Given the description of an element on the screen output the (x, y) to click on. 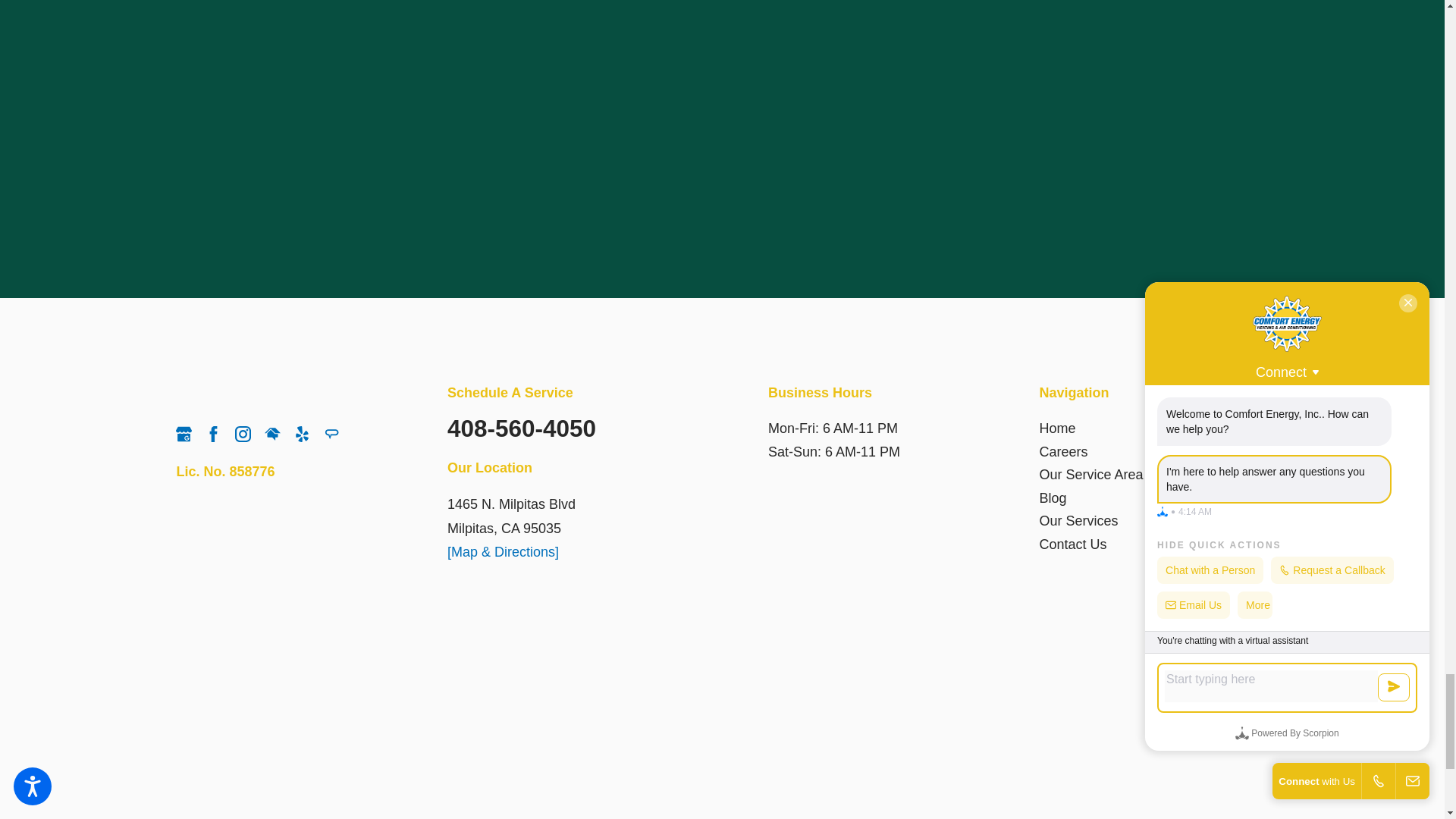
Yelp (302, 433)
Facebook (213, 433)
HomeAdvisor (272, 433)
Instagram (242, 433)
Angie's List (331, 433)
Google Business Profile (184, 433)
